Given the description of an element on the screen output the (x, y) to click on. 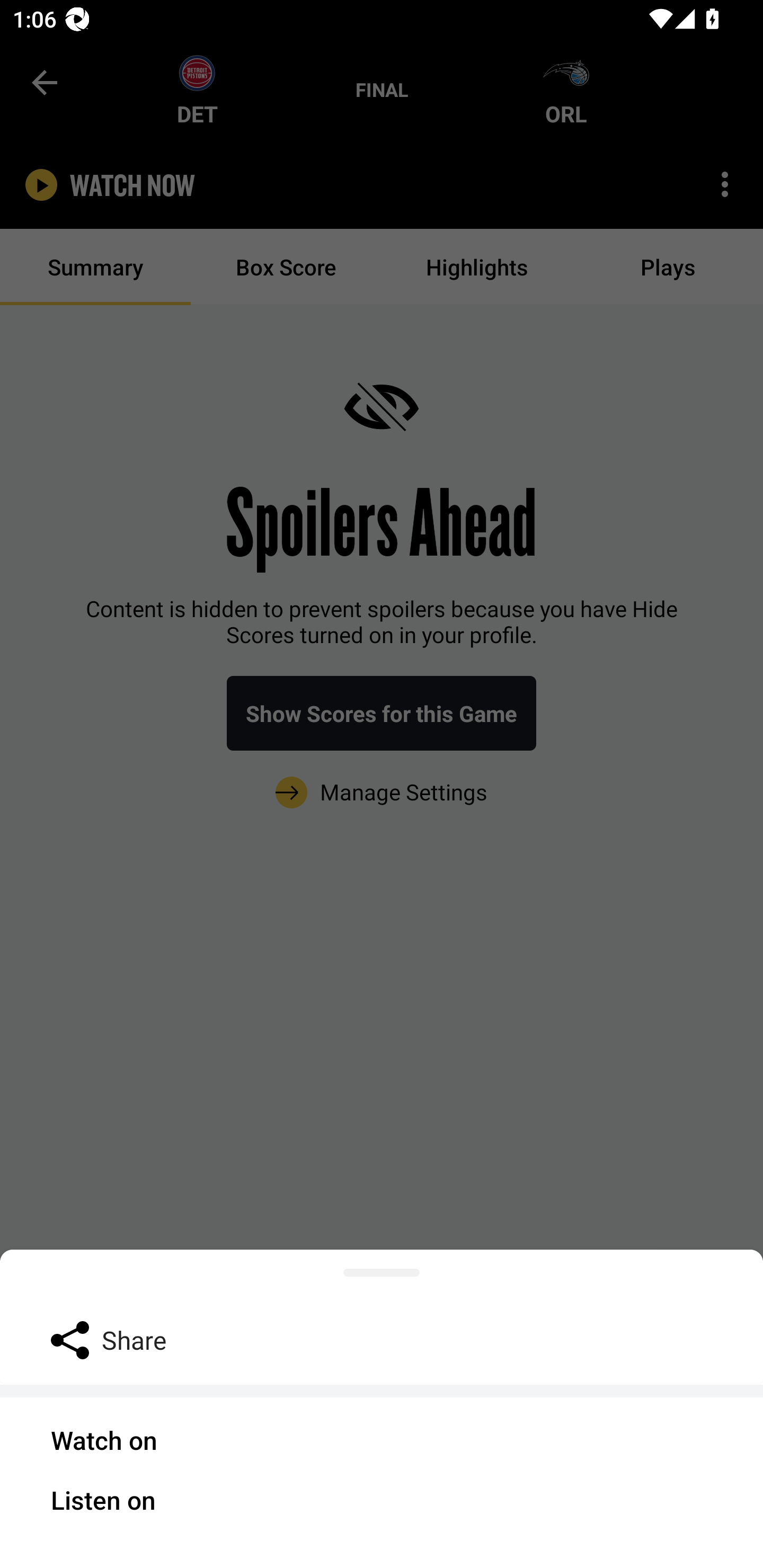
Share (381, 1339)
